Given the description of an element on the screen output the (x, y) to click on. 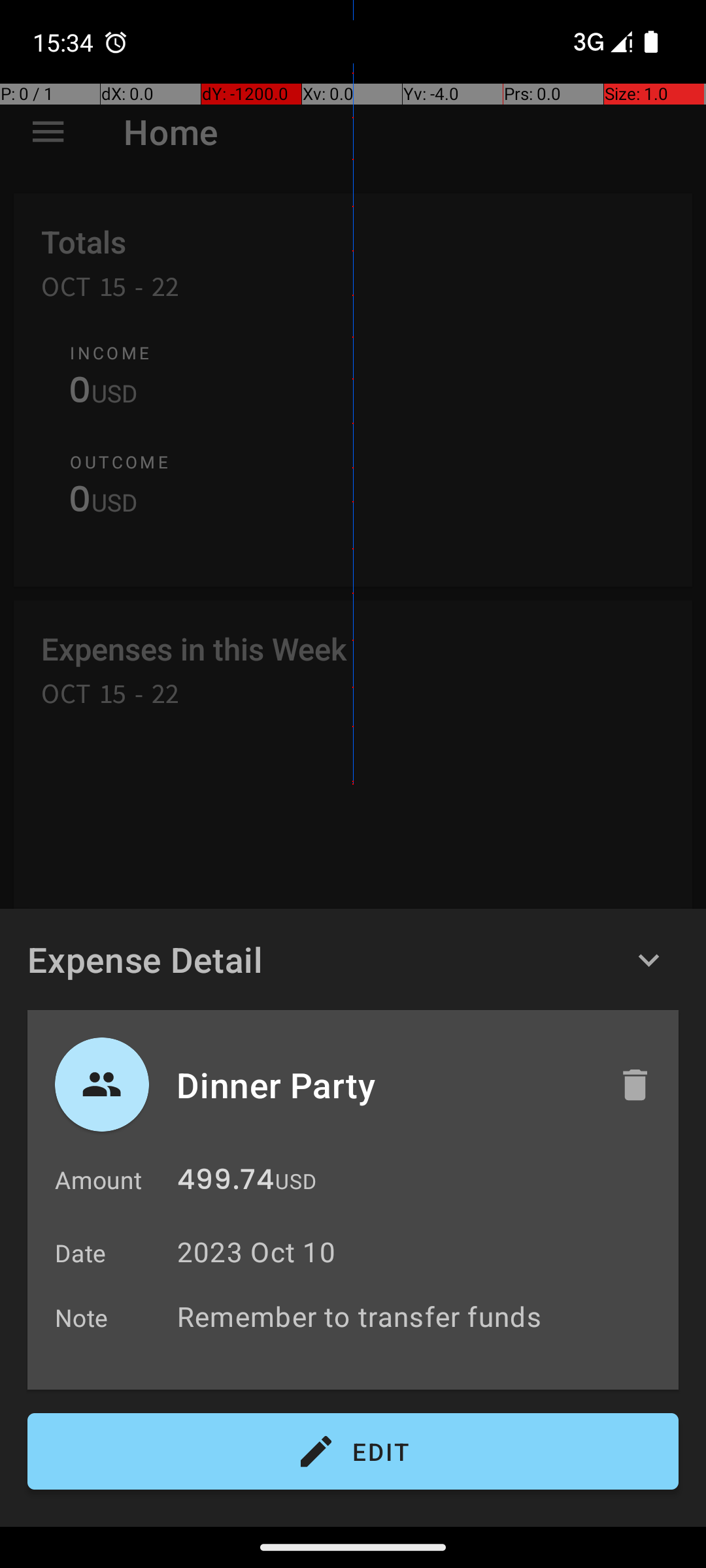
499.74 Element type: android.widget.TextView (225, 1182)
